Given the description of an element on the screen output the (x, y) to click on. 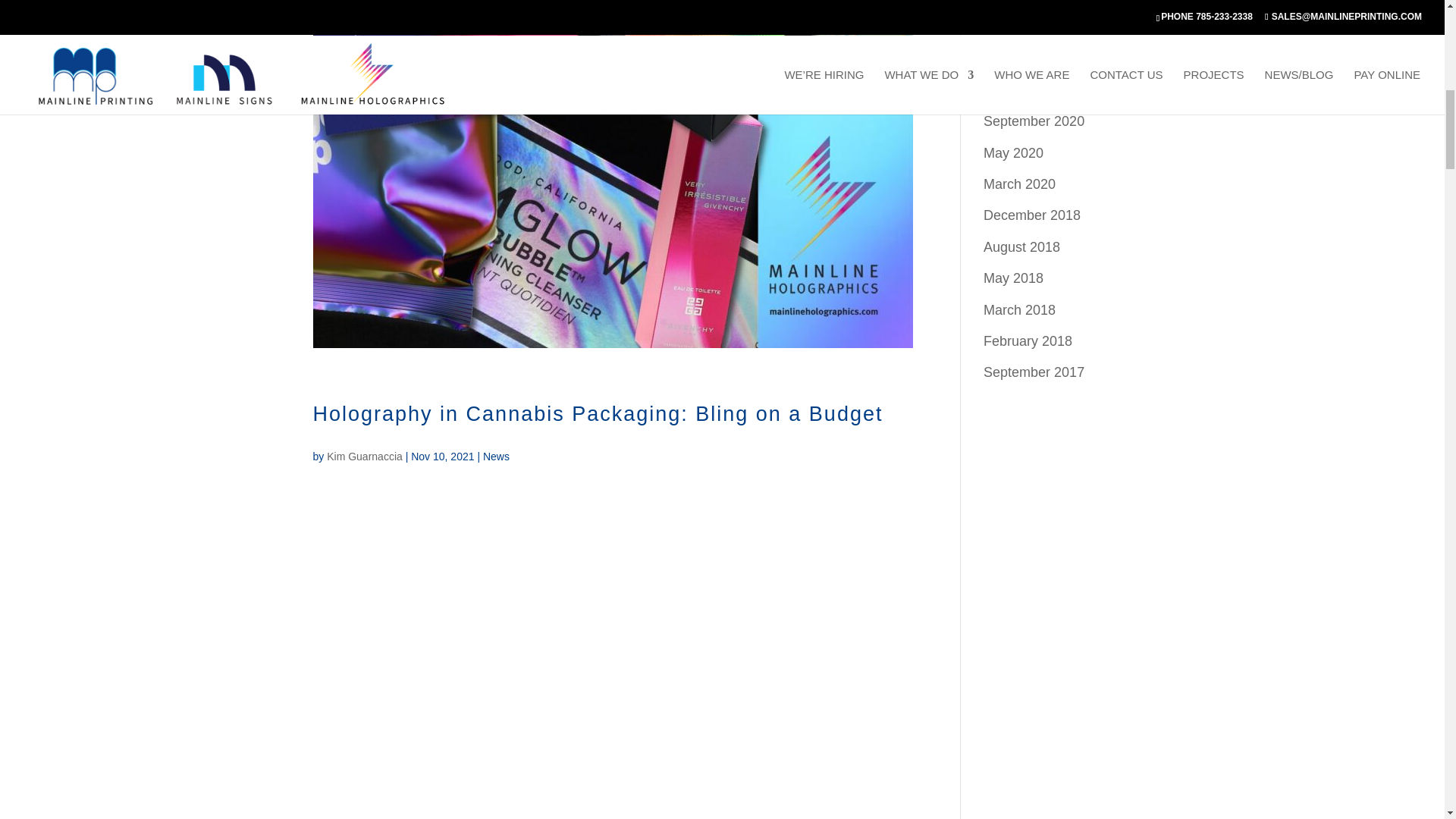
Posts by Kim Guarnaccia (364, 456)
Holography in Cannabis Packaging: Bling on a Budget (597, 413)
